Given the description of an element on the screen output the (x, y) to click on. 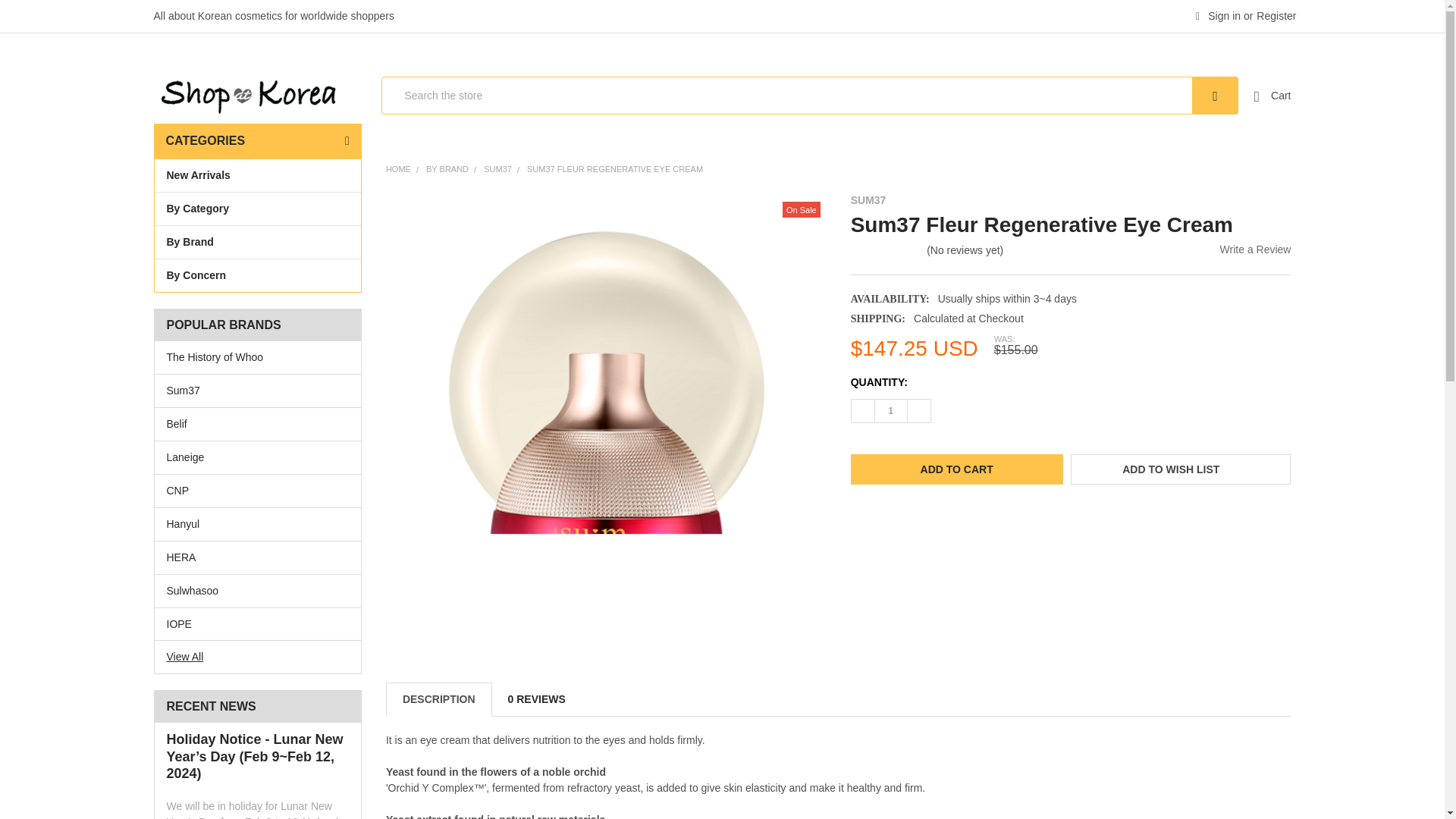
Laneige (258, 457)
Sum37 (258, 390)
Shop at Korea (247, 94)
Belif (258, 424)
Search (1215, 95)
Sign in (1218, 16)
CNP (258, 490)
Sulwhasoo (258, 590)
1 (891, 410)
The History of Whoo (258, 357)
Cart (1272, 95)
HERA (258, 557)
IOPE (258, 623)
Register (1275, 16)
